Given the description of an element on the screen output the (x, y) to click on. 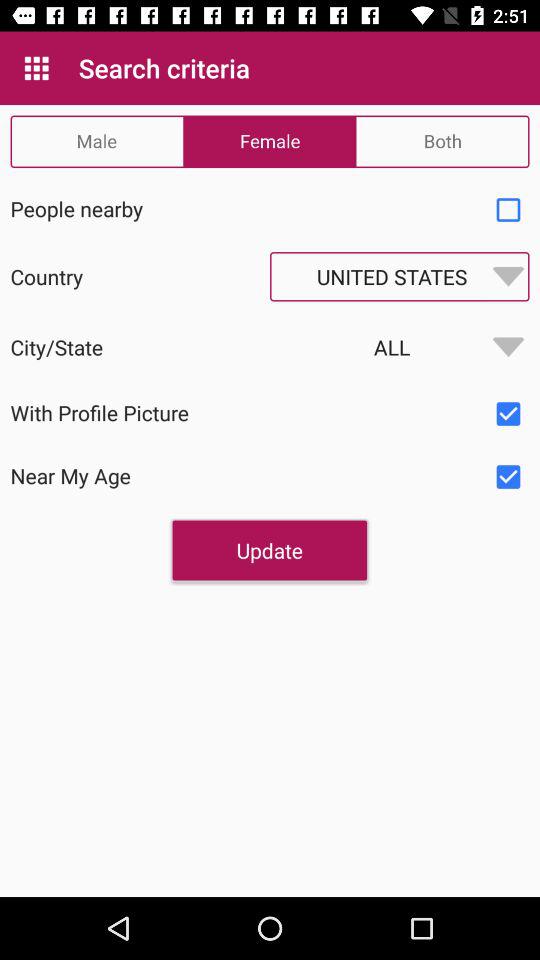
select icon to the right of the people nearby (508, 209)
